Given the description of an element on the screen output the (x, y) to click on. 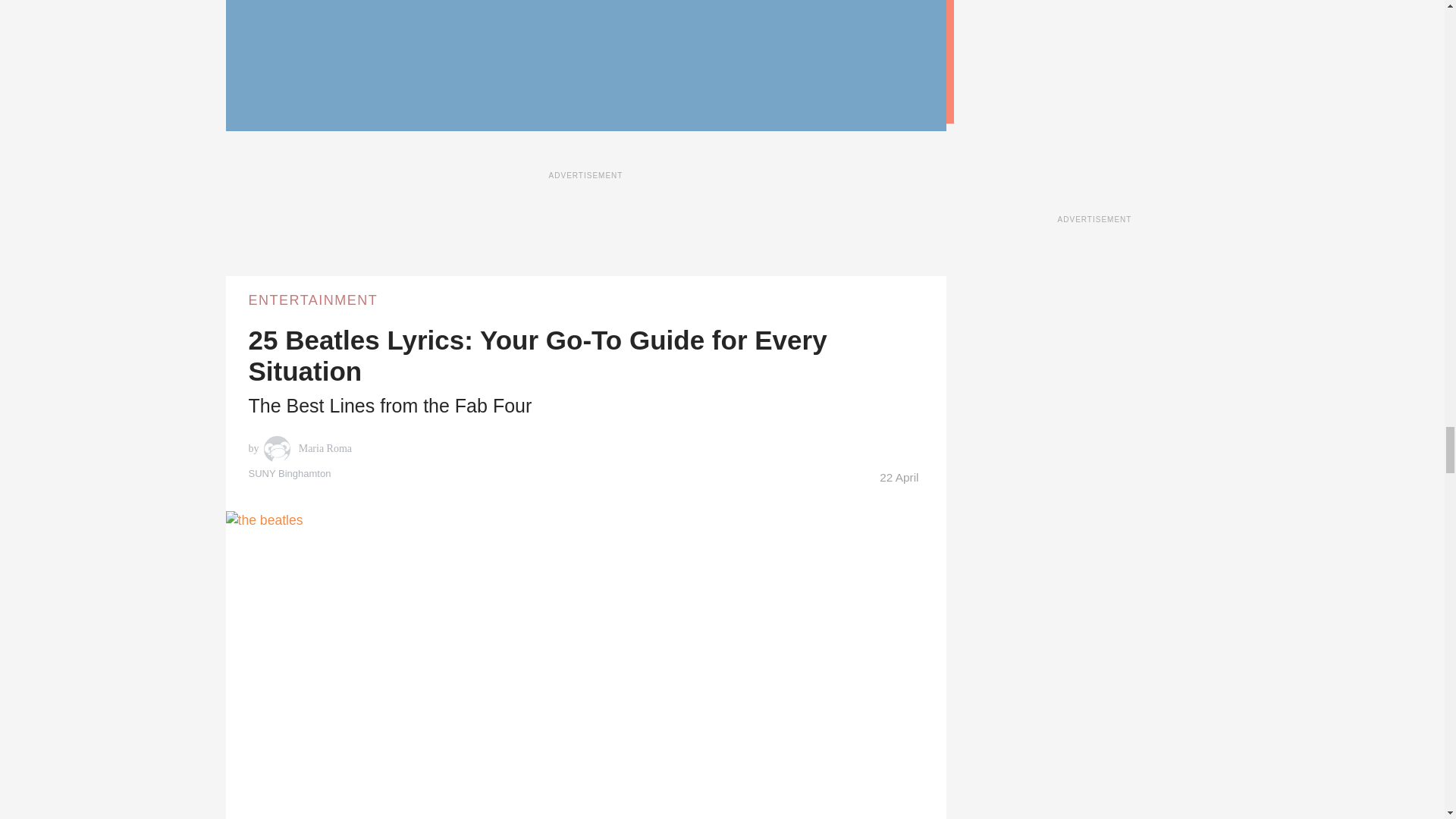
Form 0 (713, 50)
